Given the description of an element on the screen output the (x, y) to click on. 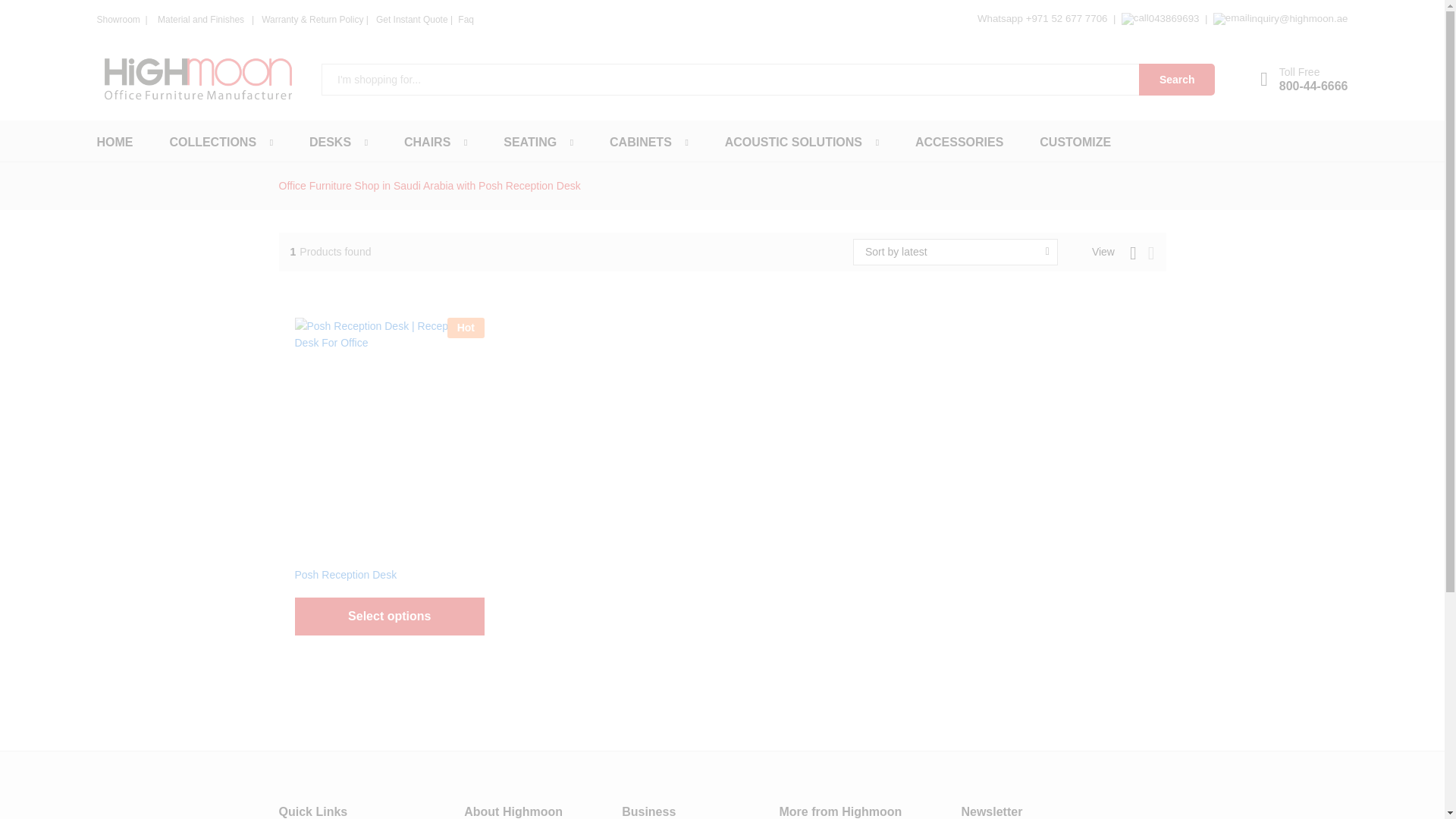
Showroom  (119, 19)
Material and Finishes  (201, 19)
CHAIRS (426, 142)
COLLECTIONS (212, 142)
Faq (466, 19)
HOME (1304, 79)
Search (115, 142)
DESKS (1176, 79)
043869693 (329, 142)
